Given the description of an element on the screen output the (x, y) to click on. 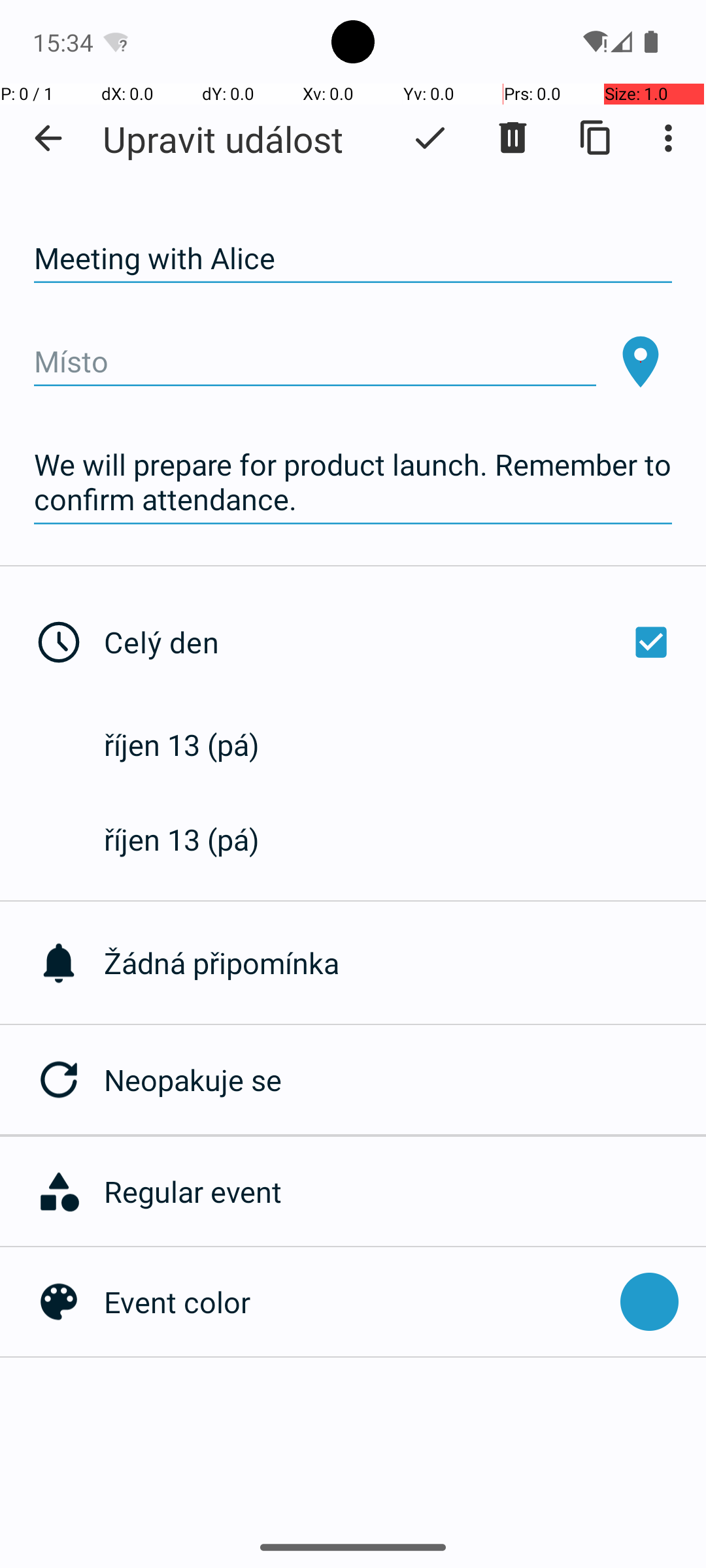
Upravit událost Element type: android.widget.TextView (222, 138)
Uložit Element type: android.widget.Button (429, 137)
Smazat Element type: android.widget.Button (512, 137)
Zkopírovat událost Element type: android.widget.Button (595, 137)
Další možnosti Element type: android.widget.ImageView (671, 137)
Místo Element type: android.widget.EditText (314, 361)
We will prepare for product launch. Remember to confirm attendance. Element type: android.widget.EditText (352, 482)
říjen 13 (pá) Element type: android.widget.TextView (194, 744)
Žádná připomínka Element type: android.widget.TextView (404, 962)
Neopakuje se Element type: android.widget.TextView (404, 1079)
Celý den Element type: android.widget.CheckBox (390, 642)
